Given the description of an element on the screen output the (x, y) to click on. 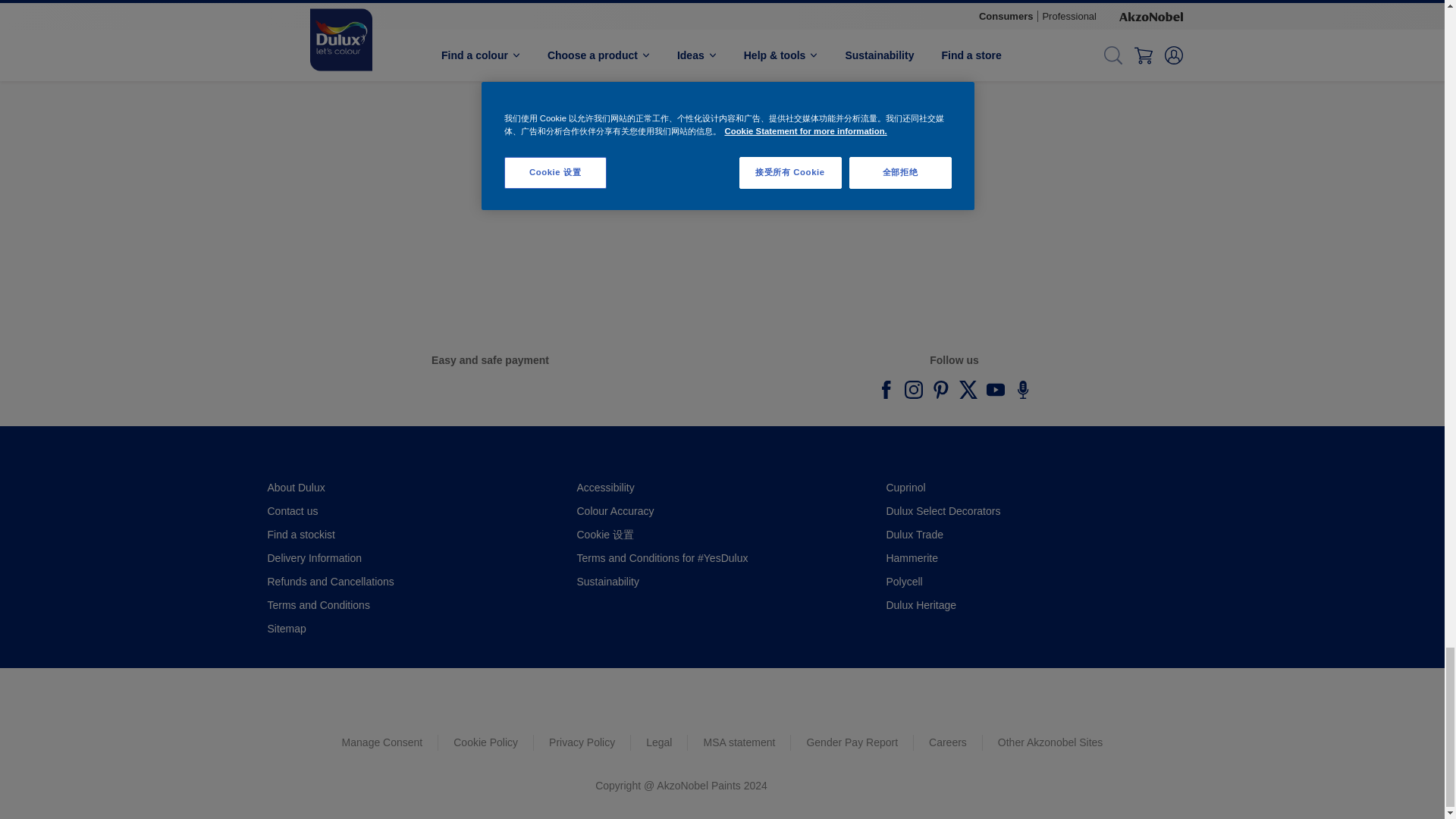
Follow us (939, 389)
Follow us (912, 389)
Follow us (995, 389)
Follow us (967, 389)
Follow us (1022, 389)
Follow us (885, 389)
